Given the description of an element on the screen output the (x, y) to click on. 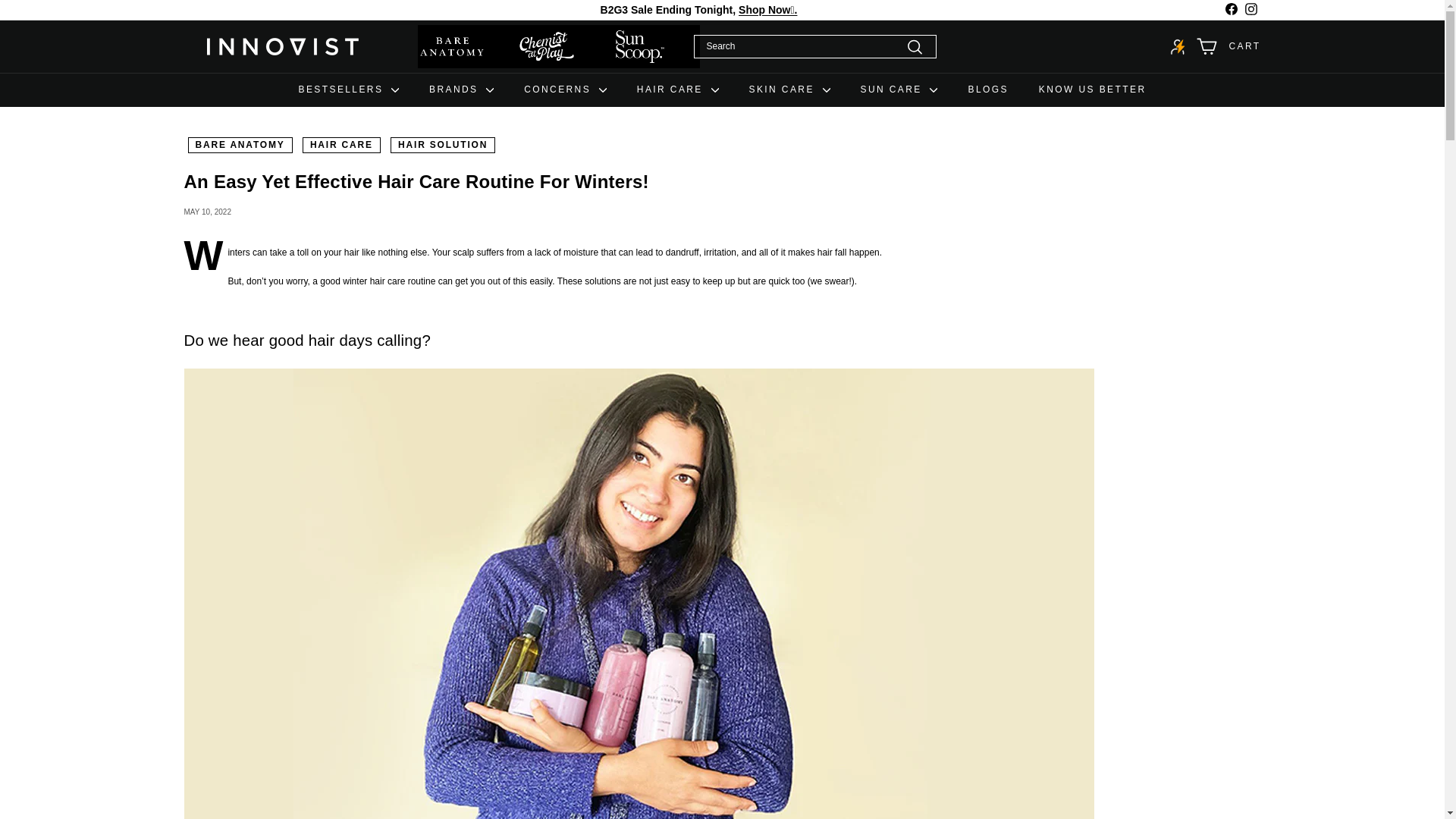
Innovist on Instagram (1250, 9)
instagram (1250, 9)
Facebook (1230, 9)
Innovist on Facebook (1230, 9)
CART (1228, 46)
